Given the description of an element on the screen output the (x, y) to click on. 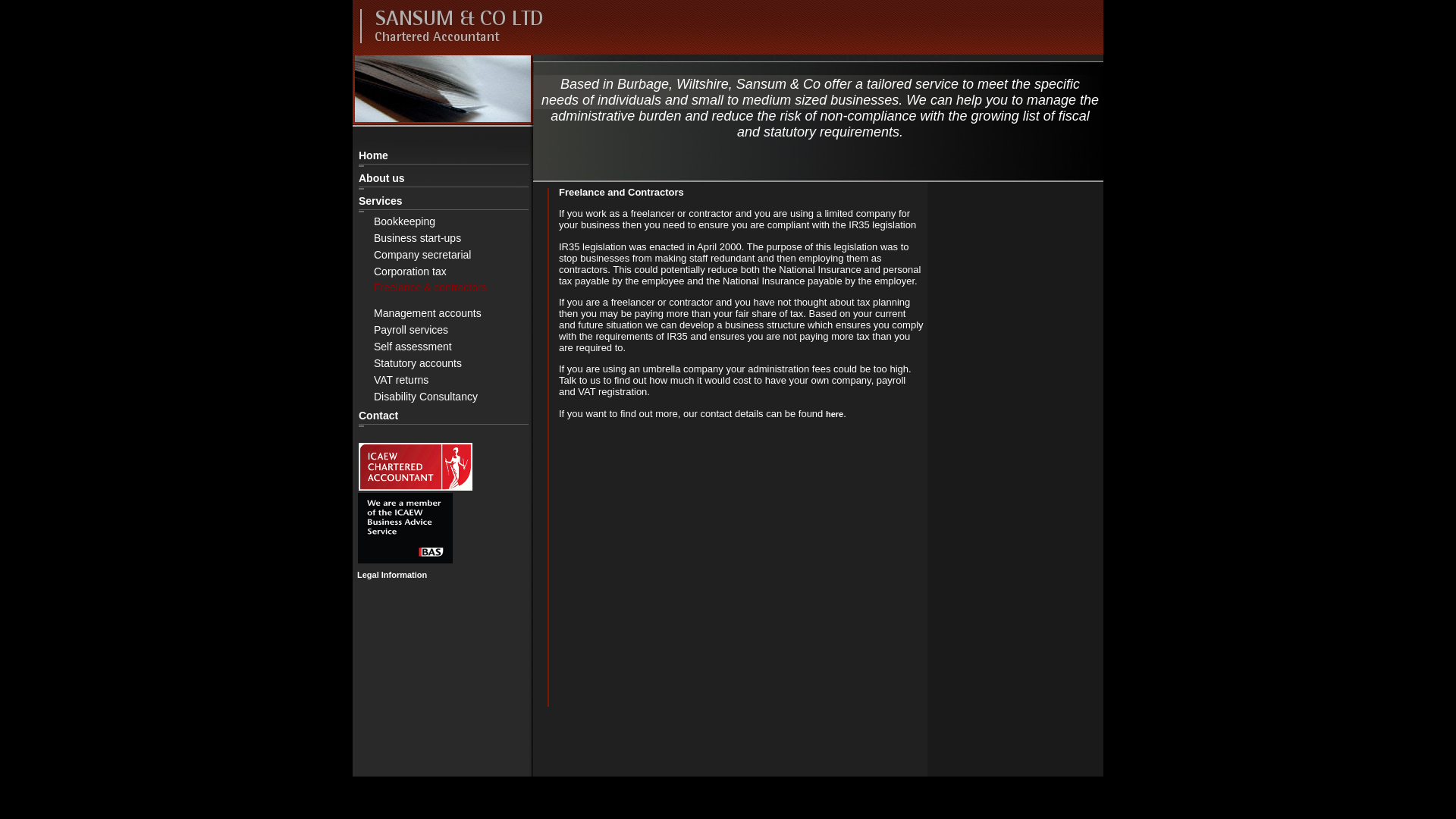
VAT returns (460, 380)
Business start-ups (452, 237)
Statutory accounts (460, 363)
Home (444, 155)
Bookkeeping (452, 221)
Legal Information (391, 574)
Self assessment (452, 346)
Company secretarial (460, 255)
here (834, 413)
Contact (452, 415)
Payroll services (460, 329)
About us (452, 178)
VAT returns (452, 380)
Services (444, 200)
Home (452, 155)
